Given the description of an element on the screen output the (x, y) to click on. 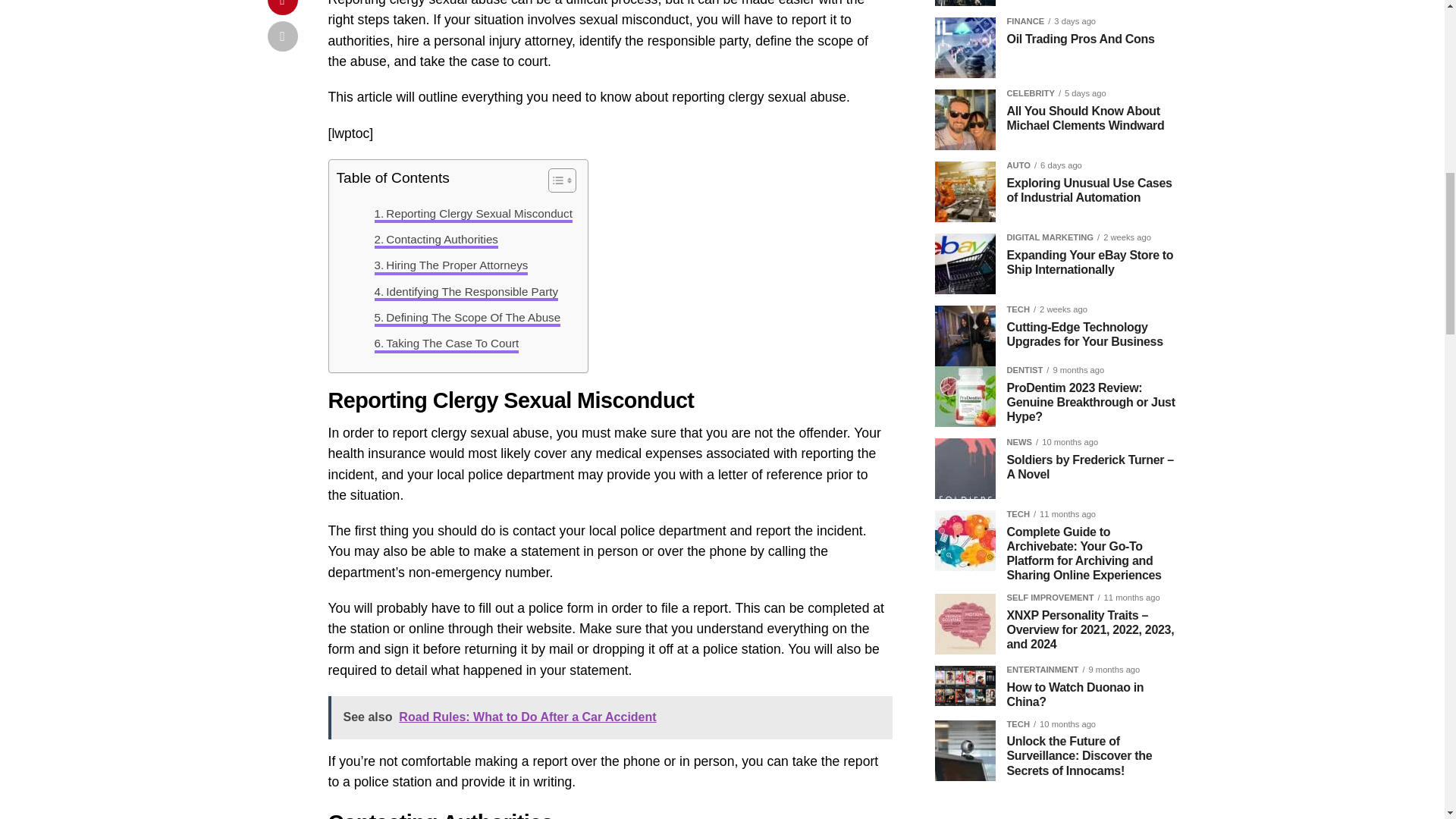
Reporting Clergy Sexual Misconduct (473, 213)
Identifying The Responsible Party (466, 291)
Hiring The Proper Attorneys (451, 265)
Defining The Scope Of The Abuse (467, 317)
Contacting Authorities (435, 239)
Taking The Case To Court (446, 343)
